Given the description of an element on the screen output the (x, y) to click on. 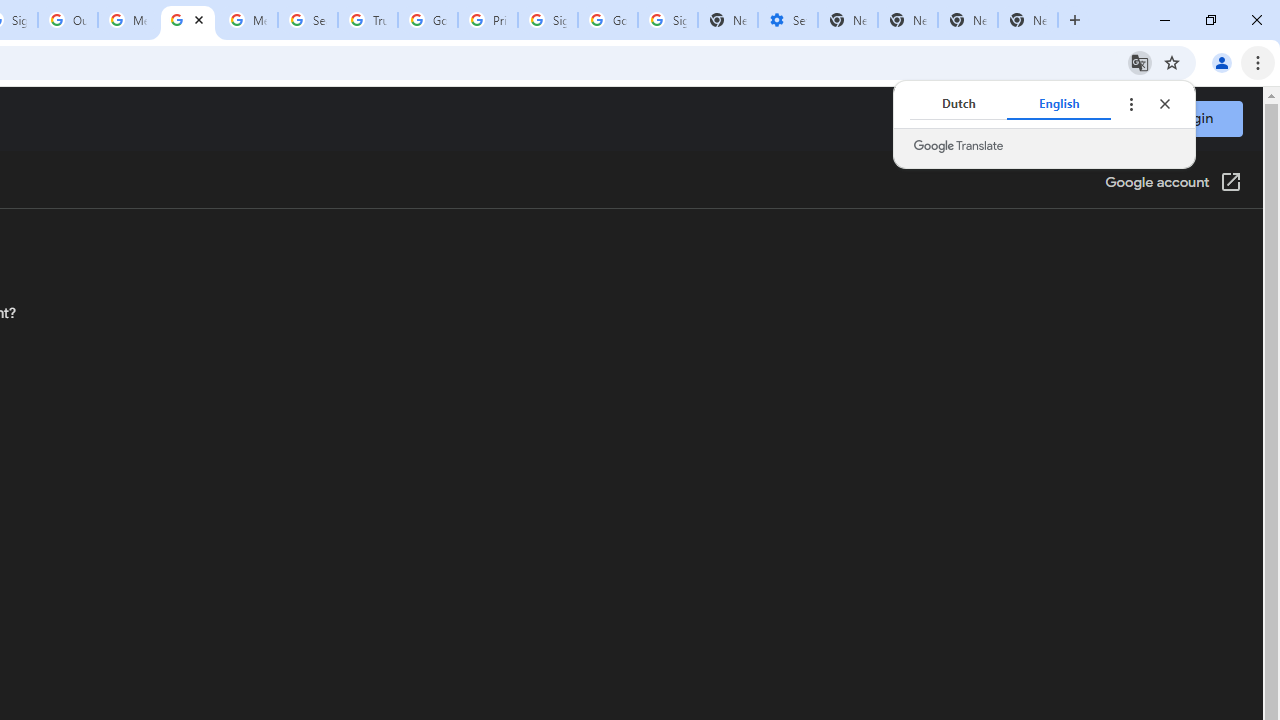
Login (1194, 118)
Translate options (1130, 103)
Google Ads - Sign in (428, 20)
New Tab (1028, 20)
Settings - Performance (787, 20)
Search our Doodle Library Collection - Google Doodles (307, 20)
Sign in - Google Accounts (667, 20)
Google Account (Opens in new window) (1173, 183)
